Given the description of an element on the screen output the (x, y) to click on. 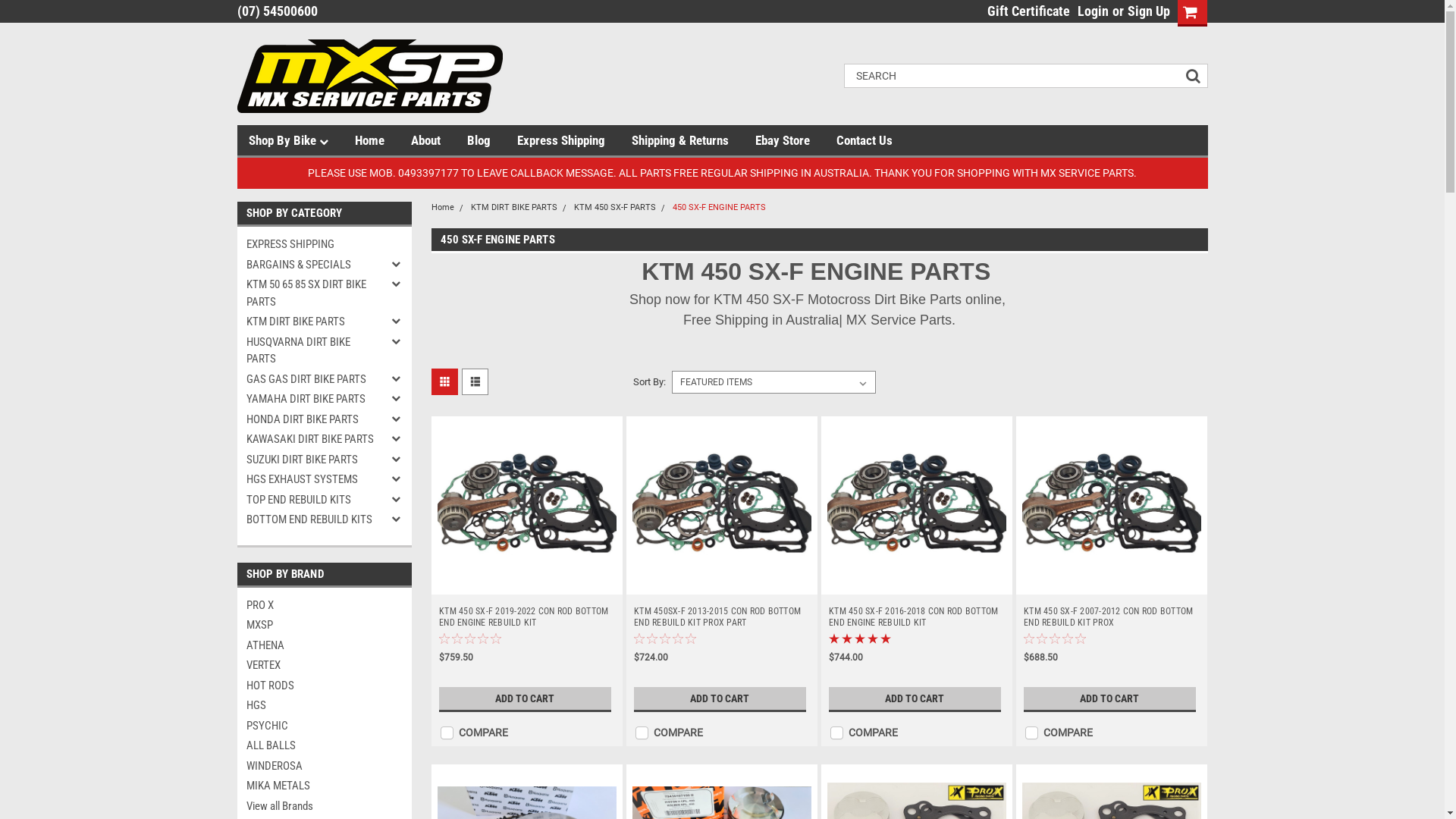
TOP END REBUILD KITS Element type: text (310, 499)
About Element type: text (439, 140)
Login Element type: text (1091, 11)
450 SX-F ENGINE PARTS Element type: text (718, 207)
Home Element type: text (441, 207)
YAMAHA DIRT BIKE PARTS Element type: text (310, 399)
MX Service Parts Element type: hover (369, 75)
PSYCHIC Element type: text (323, 725)
HUSQVARNA DIRT BIKE PARTS Element type: text (310, 350)
Sign Up Element type: text (1146, 11)
HOT RODS Element type: text (323, 684)
KAWASAKI DIRT BIKE PARTS Element type: text (310, 439)
KTM 450 SX-F 2016-2018 CON ROD BOTTOM END ENGINE REBUILD KIT Element type: text (916, 616)
Shipping & Returns Element type: text (692, 140)
Ebay Store Element type: text (795, 140)
SUZUKI DIRT BIKE PARTS Element type: text (310, 458)
KTM 450 SX-F 2019-2022 CON ROD BOTTOM END ENGINE REBUILD KIT Element type: text (527, 616)
ADD TO CART Element type: text (719, 699)
WINDEROSA Element type: text (323, 765)
HGS Element type: text (323, 705)
BOTTOM END REBUILD KITS Element type: text (310, 519)
ATHENA Element type: text (323, 645)
KTM 450 SX-F PARTS Element type: text (614, 207)
KTM DIRT BIKE PARTS Element type: text (513, 207)
KTM 450 SX-F 2007-2012 CON ROD BOTTOM END REBUILD KIT PROX Element type: text (1111, 616)
BARGAINS & SPECIALS Element type: text (310, 264)
HGS EXHAUST SYSTEMS Element type: text (310, 479)
GAS GAS DIRT BIKE PARTS Element type: text (310, 378)
Express Shipping Element type: text (574, 140)
Home Element type: text (382, 140)
ADD TO CART Element type: text (1109, 699)
HONDA DIRT BIKE PARTS Element type: text (310, 419)
Gift Certificate Element type: text (1024, 11)
Blog Element type: text (492, 140)
ADD TO CART Element type: text (525, 699)
ADD TO CART Element type: text (914, 699)
MXSP Element type: text (323, 625)
EXPRESS SHIPPING Element type: text (310, 244)
KTM 50 65 85 SX DIRT BIKE PARTS Element type: text (310, 292)
VERTEX Element type: text (323, 665)
MIKA METALS Element type: text (323, 785)
View all Brands Element type: text (323, 806)
ALL BALLS Element type: text (323, 745)
Shop By Bike Element type: text (301, 140)
PRO X Element type: text (323, 604)
Contact Us Element type: text (876, 140)
KTM DIRT BIKE PARTS Element type: text (310, 321)
KTM 450 SX-F 2007-2012 CON ROD BOTTOM END REBUILD KIT PROX  Element type: hover (1111, 504)
